Given the description of an element on the screen output the (x, y) to click on. 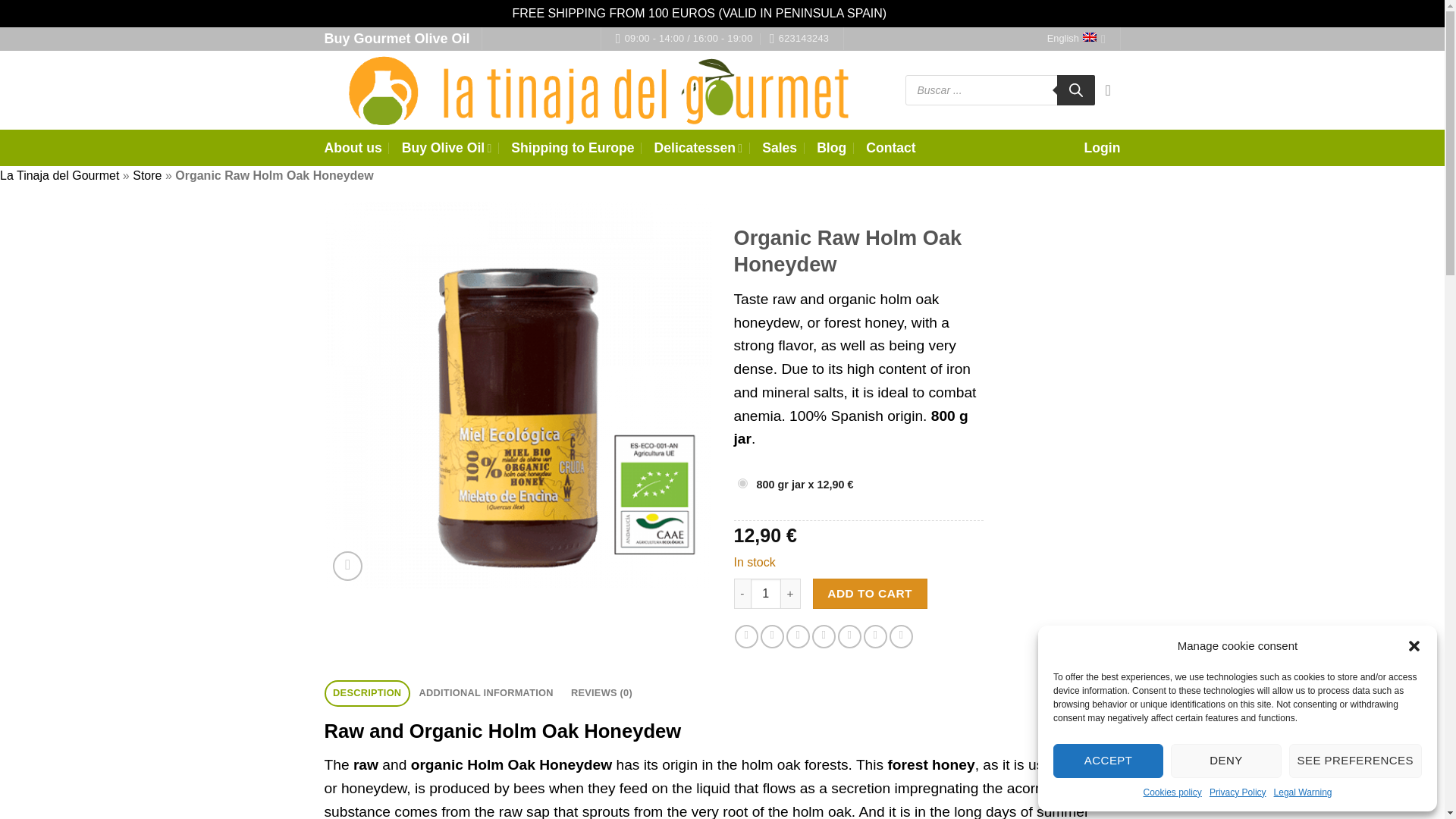
SEE PREFERENCES (1355, 760)
on (741, 483)
623143243 (799, 39)
623143243 (799, 39)
Zoom (347, 565)
Dismiss (911, 12)
1 (765, 593)
ACCEPT (1107, 760)
Privacy Policy (1237, 792)
Login (1102, 147)
